Given the description of an element on the screen output the (x, y) to click on. 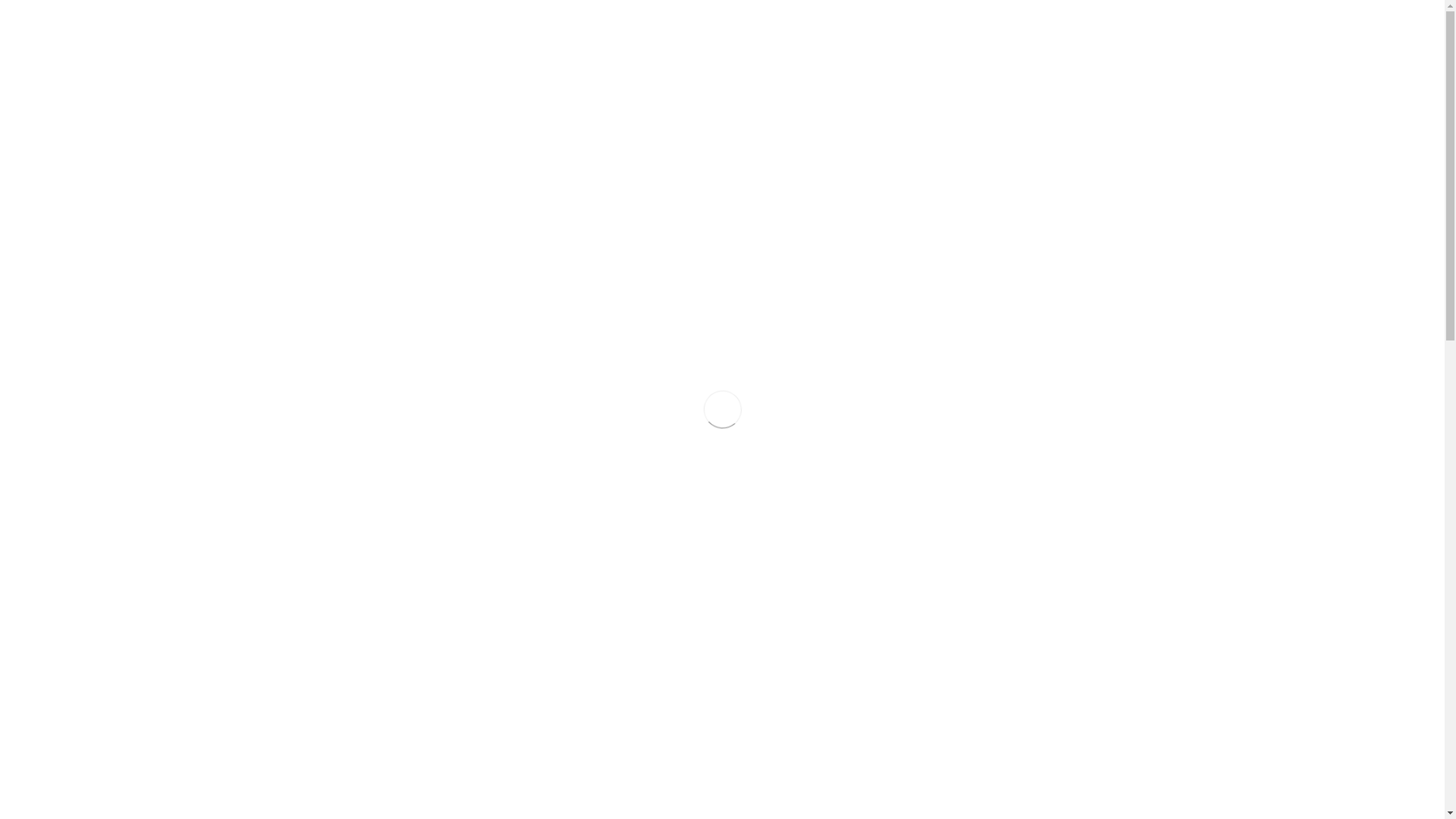
Shop Element type: text (1071, 121)
Shop Element type: text (808, 44)
VERKLEIDUNG Element type: text (383, 454)
Marken Element type: text (914, 44)
Kontakt Element type: text (975, 44)
BODY Element type: text (383, 627)
LEGGINGS/HOSEN Element type: text (383, 706)
0 Element type: text (1141, 67)
ESSEN UND TRINKEN Element type: text (383, 775)
SCHUHE Element type: text (383, 667)
WICKELJACKE Element type: text (383, 608)
TOP Element type: text (383, 726)
SCHUHE Element type: text (383, 329)
+41 (0)52 202 02 55 Element type: text (1036, 14)
News Element type: text (857, 44)
BALLETTKLEID/DRESS Element type: text (383, 746)
HAARE Element type: text (383, 800)
COSMETIC UTENSILIEN Element type: text (383, 379)
STULPEN Element type: text (383, 588)
BABY Element type: text (383, 253)
JUNGS Element type: text (383, 303)
LOGIN Element type: text (1126, 14)
Ballett Element type: text (1108, 121)
REGEN / SONNE Element type: text (383, 404)
BALLETT Element type: text (383, 479)
DAMEN Element type: text (383, 429)
STRUMPFHOSEN Element type: text (383, 529)
